Given the description of an element on the screen output the (x, y) to click on. 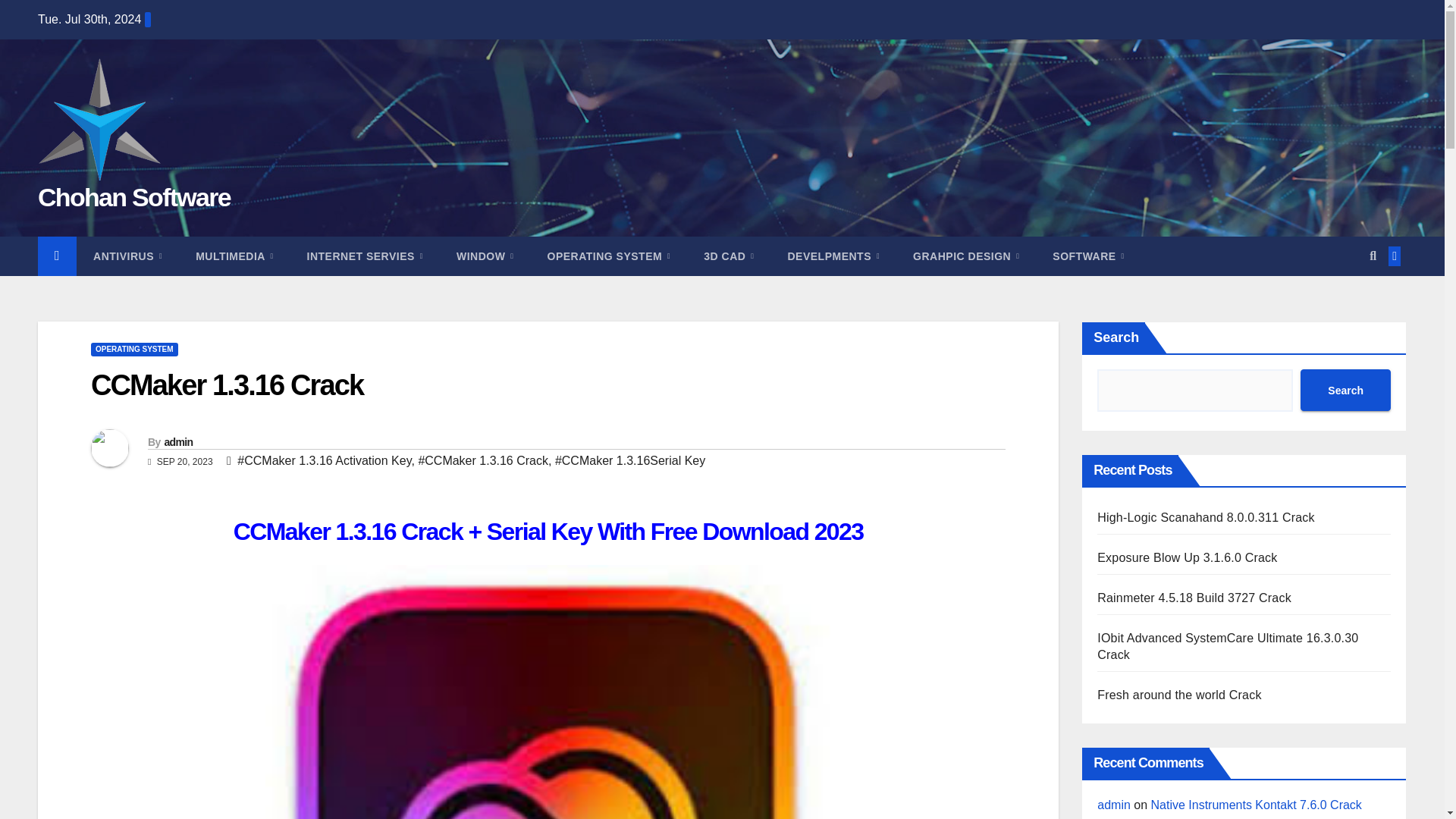
ANTIVIRUS (128, 256)
MULTIMEDIA (234, 256)
INTERNET SERVIES (364, 256)
Chohan Software (133, 196)
ANTIVIRUS (128, 256)
